Given the description of an element on the screen output the (x, y) to click on. 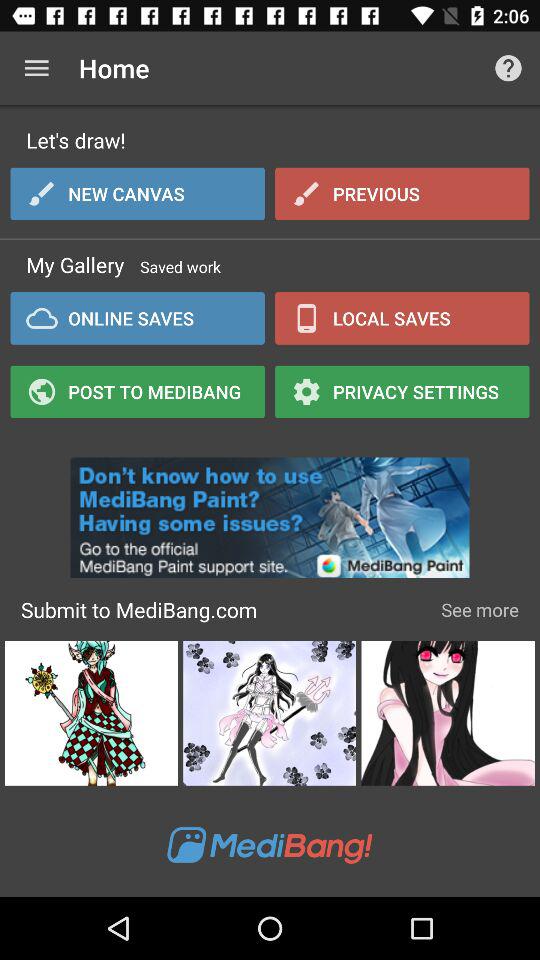
jump until privacy settings icon (402, 391)
